Given the description of an element on the screen output the (x, y) to click on. 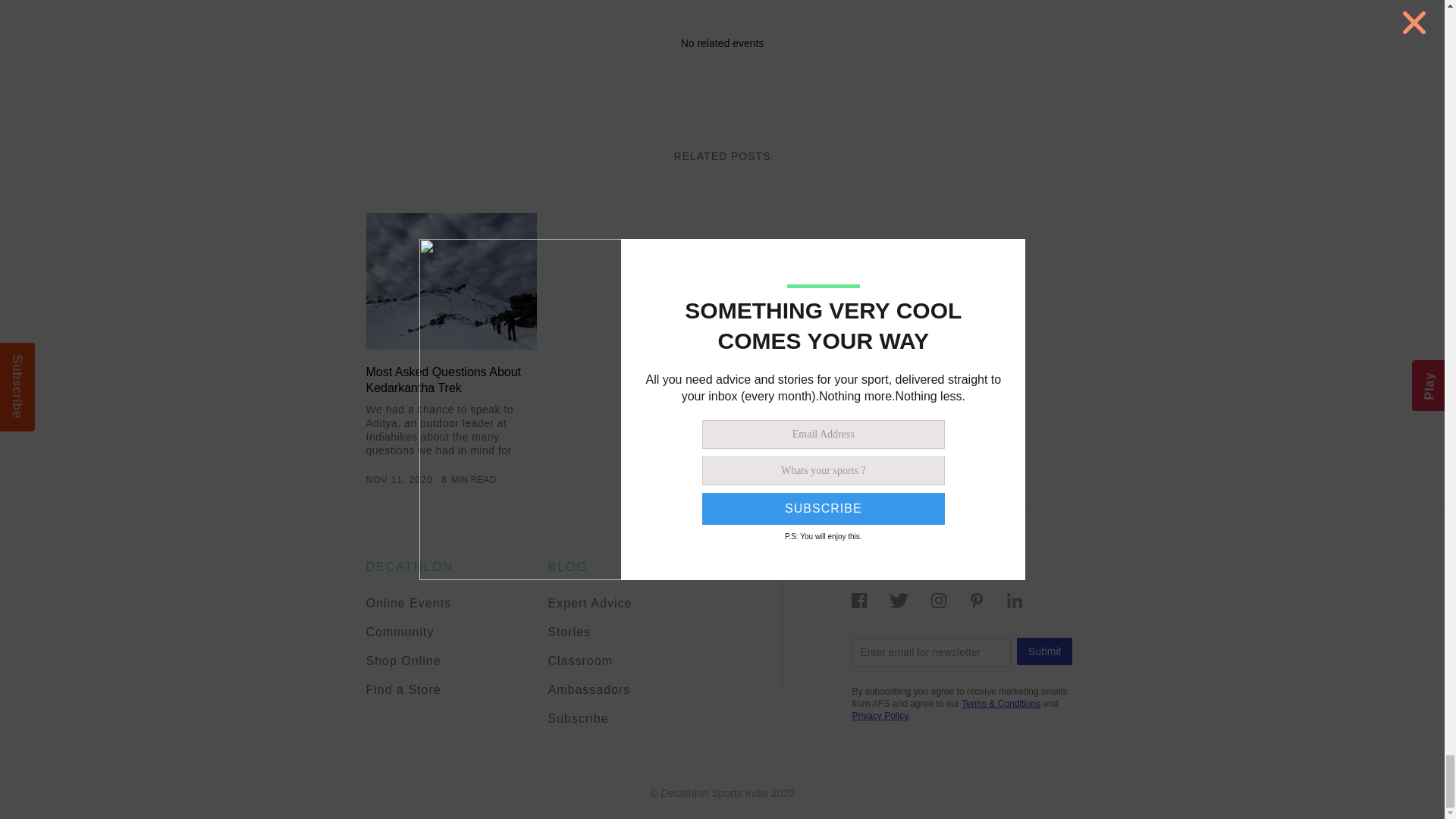
Submit (1044, 651)
